Given the description of an element on the screen output the (x, y) to click on. 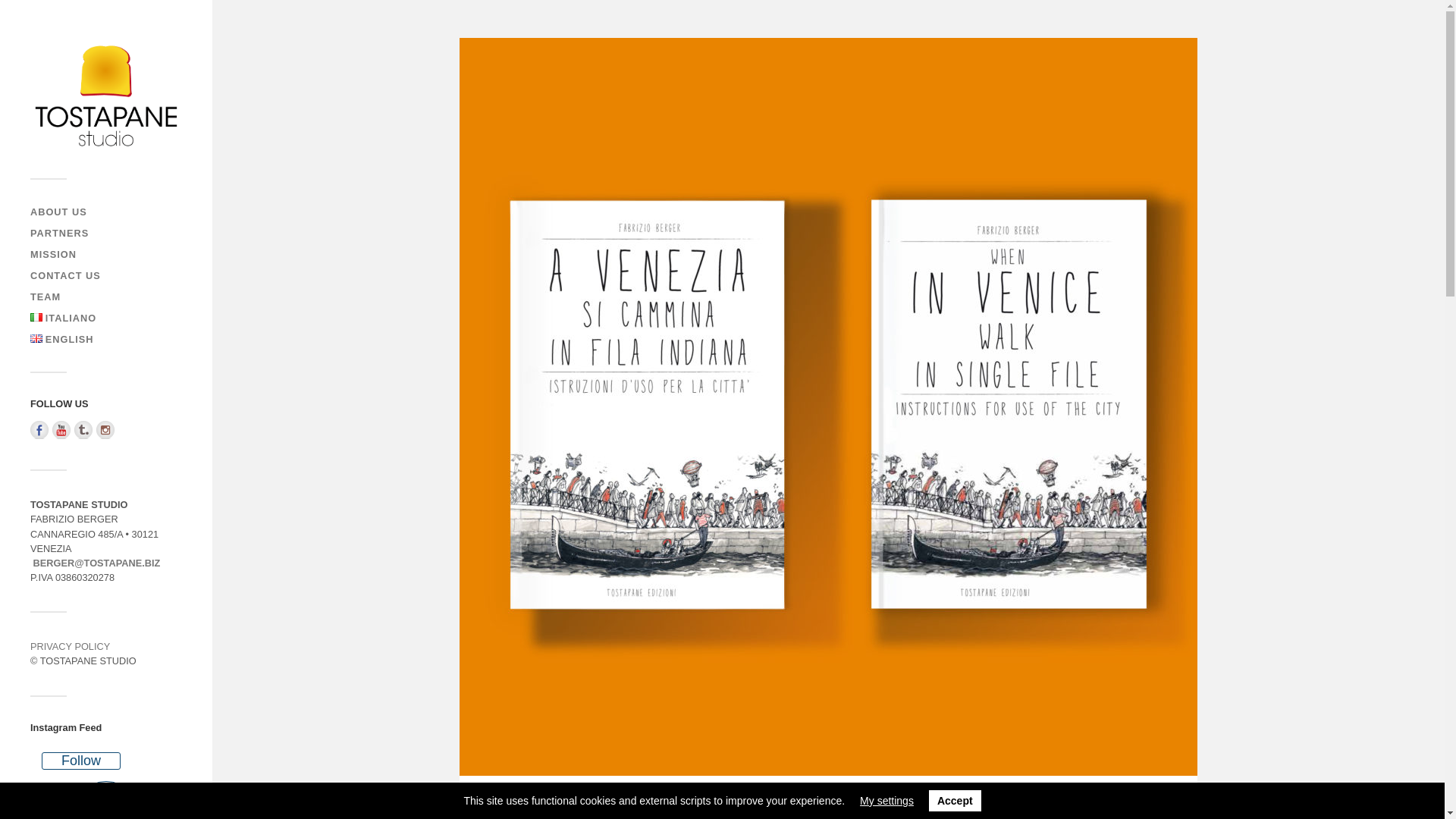
PARTNERS (59, 233)
Italiano (36, 316)
TEAM (45, 296)
Privacy Policy (70, 645)
Find us on YouTube (60, 429)
MISSION (53, 254)
ENGLISH (62, 338)
ABOUT US (58, 211)
Accept (954, 800)
Check out our instagram feed (105, 429)
PRIVACY POLICY (70, 645)
CONTACT US (65, 275)
English (36, 338)
ITALIANO (63, 317)
Follow us on Facebook (39, 429)
